Given the description of an element on the screen output the (x, y) to click on. 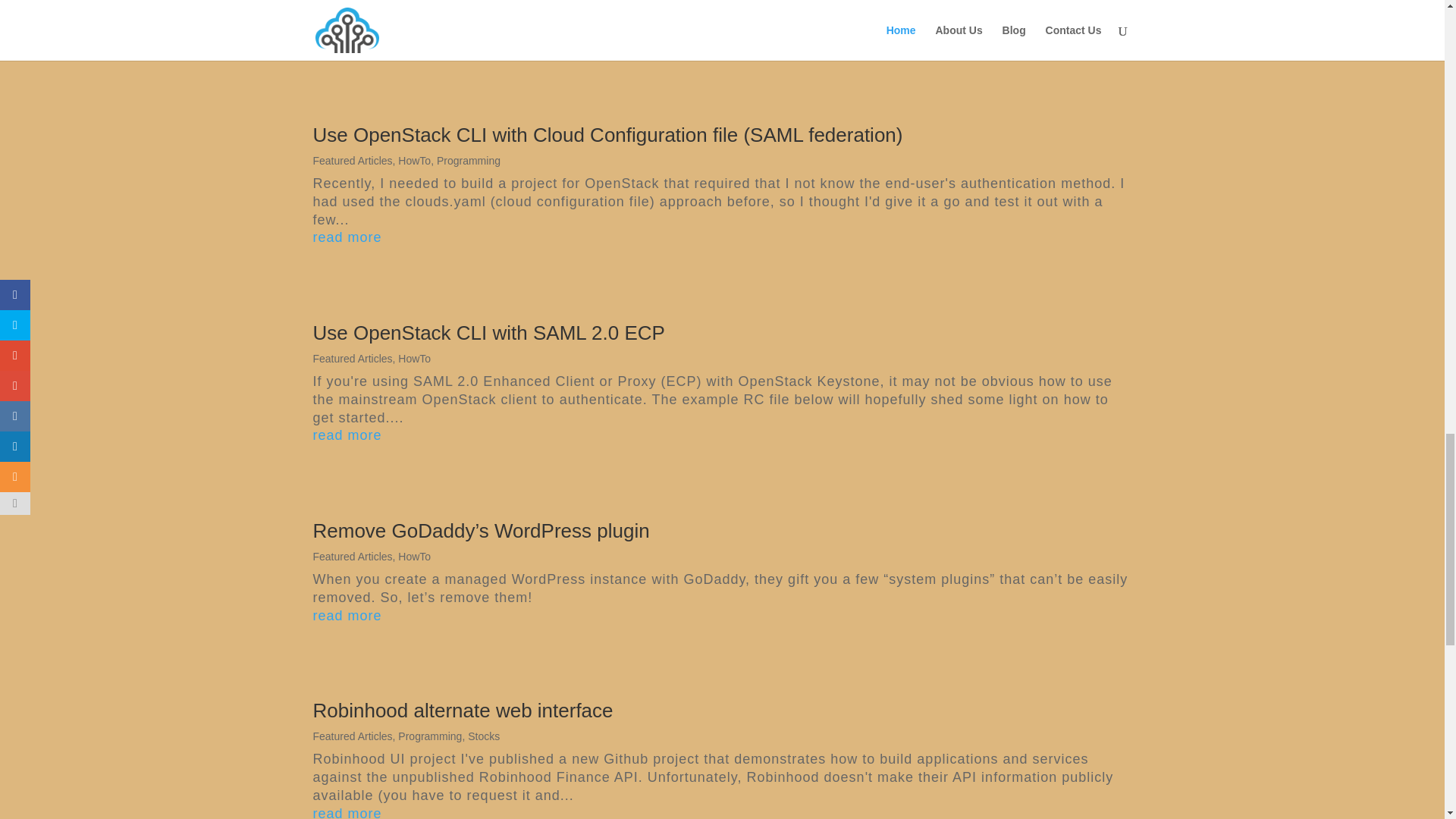
read more (722, 616)
read more (722, 238)
Programming (429, 736)
Featured Articles (352, 358)
Stocks (483, 736)
Featured Articles (352, 736)
Featured Articles (352, 556)
Programming (468, 160)
read more (722, 812)
Use OpenStack CLI with SAML 2.0 ECP (488, 332)
read more (722, 40)
read more (722, 435)
Robinhood alternate web interface (462, 710)
HowTo (413, 556)
HowTo (413, 358)
